Given the description of an element on the screen output the (x, y) to click on. 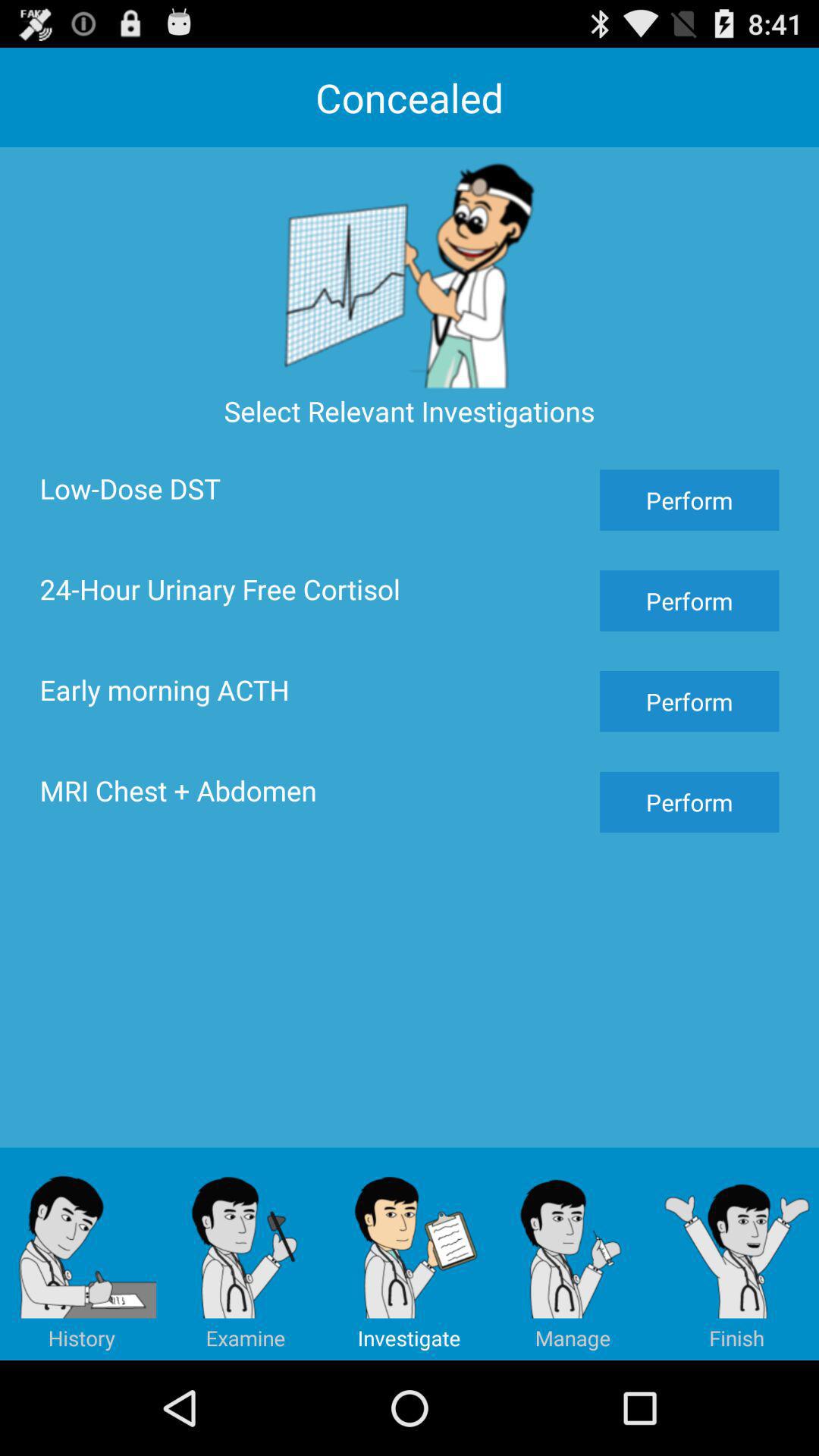
turn on icon below the perform icon (737, 1253)
